Given the description of an element on the screen output the (x, y) to click on. 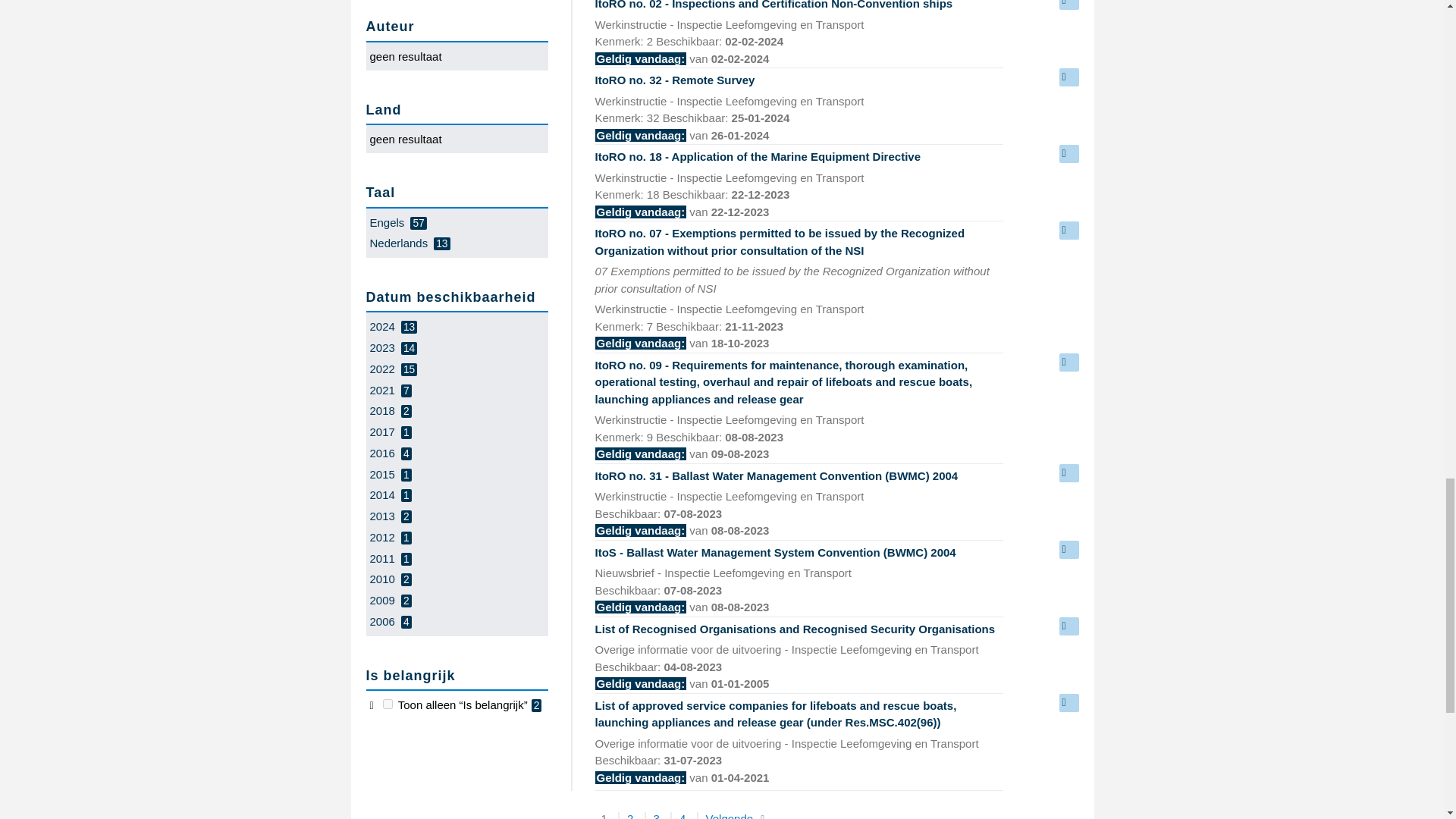
on (387, 704)
